Given the description of an element on the screen output the (x, y) to click on. 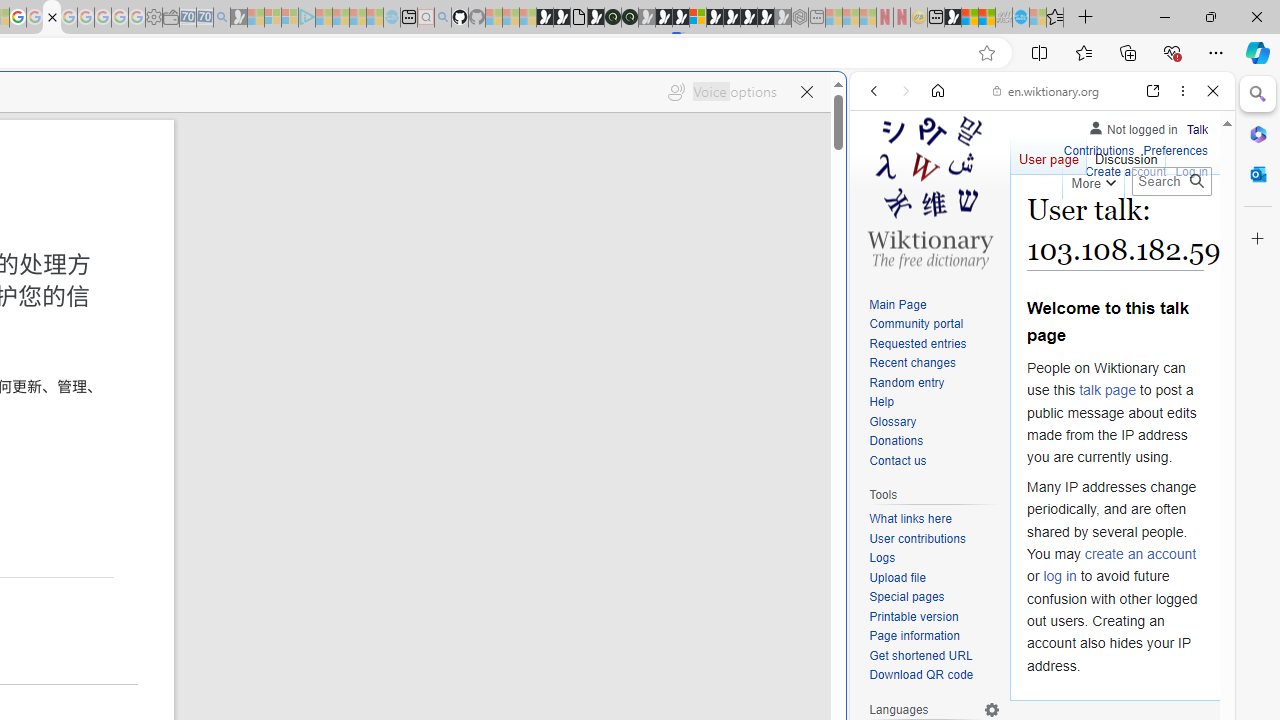
Requested entries (917, 343)
en.wiktionary.org (1046, 90)
Glossary (934, 421)
Future Focus Report 2024 (629, 17)
Main Page (934, 305)
Log in (1191, 169)
SEARCH TOOLS (1093, 228)
Search Filter, Search Tools (1093, 228)
Get shortened URL (934, 655)
